Given the description of an element on the screen output the (x, y) to click on. 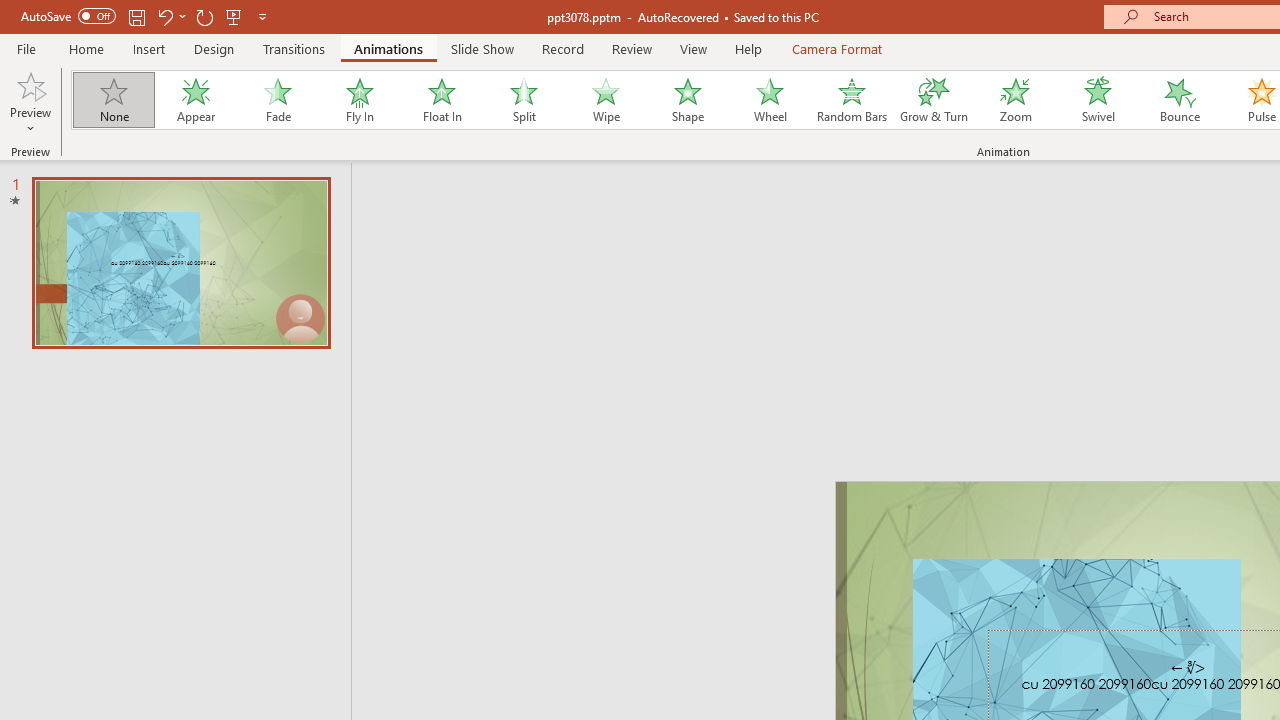
Fade (277, 100)
Split (523, 100)
Wipe (605, 100)
Camera Format (836, 48)
TextBox 7 (1188, 668)
Swivel (1098, 100)
